Given the description of an element on the screen output the (x, y) to click on. 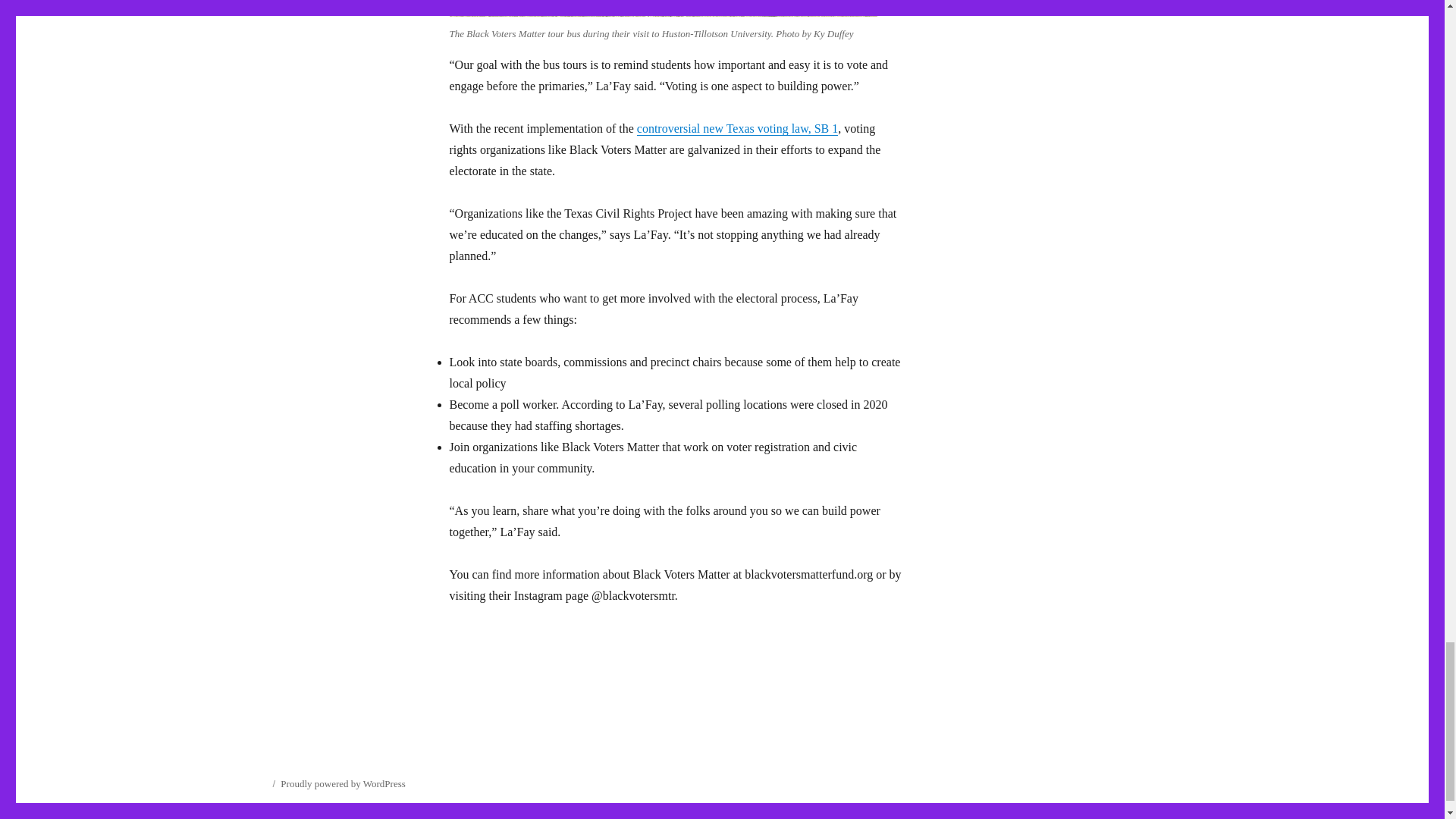
controversial new Texas voting law, SB 1 (737, 128)
